Given the description of an element on the screen output the (x, y) to click on. 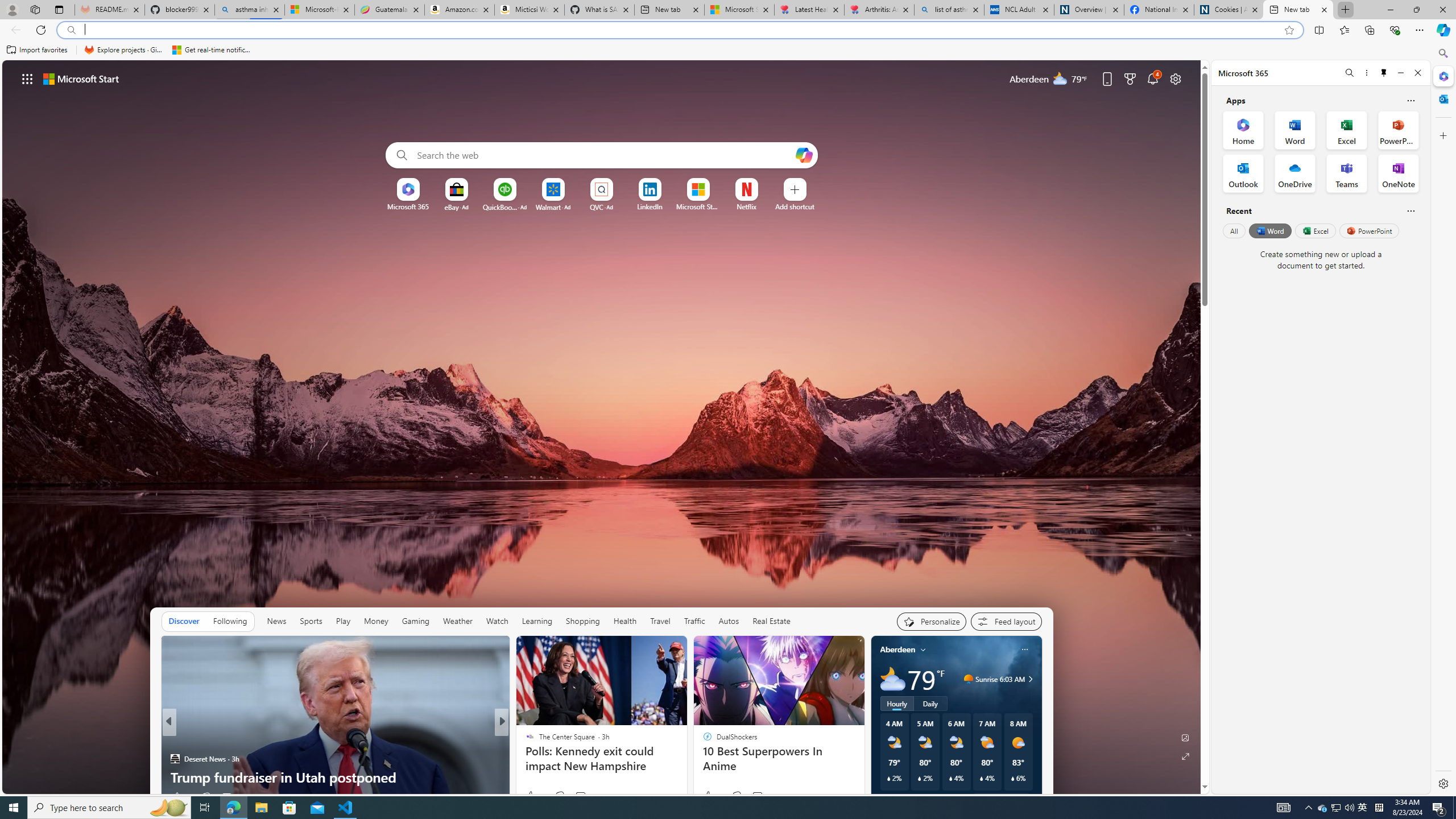
TheStreet (524, 740)
Word (1269, 230)
Top 20 Most Legendary Cars (684, 777)
51 Like (530, 796)
Microsoft start (81, 78)
Daily Meal (524, 758)
View comments 29 Comment (582, 796)
Import favorites (36, 49)
